Given the description of an element on the screen output the (x, y) to click on. 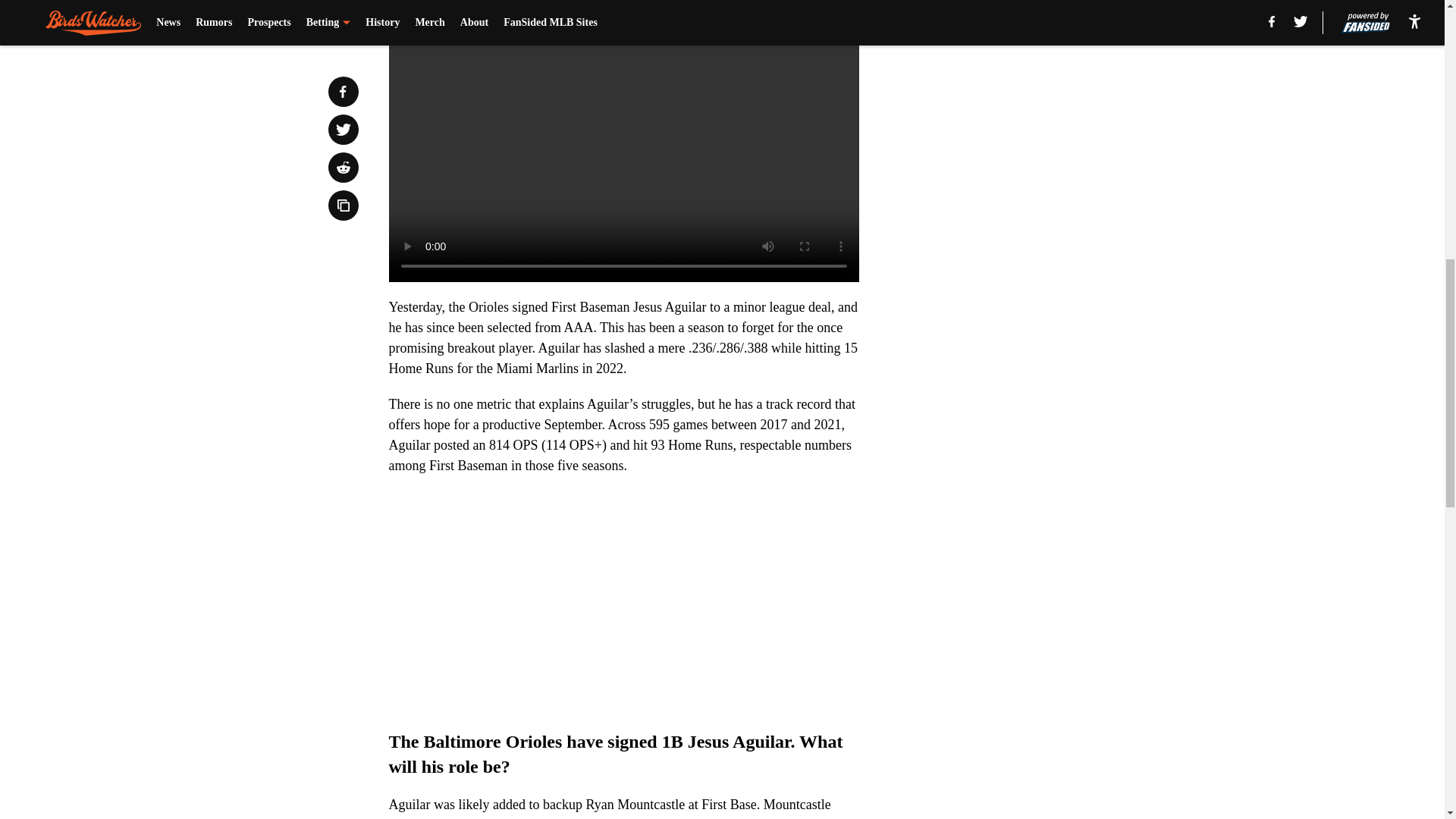
3rd party ad content (1047, 113)
3rd party ad content (1047, 332)
